Given the description of an element on the screen output the (x, y) to click on. 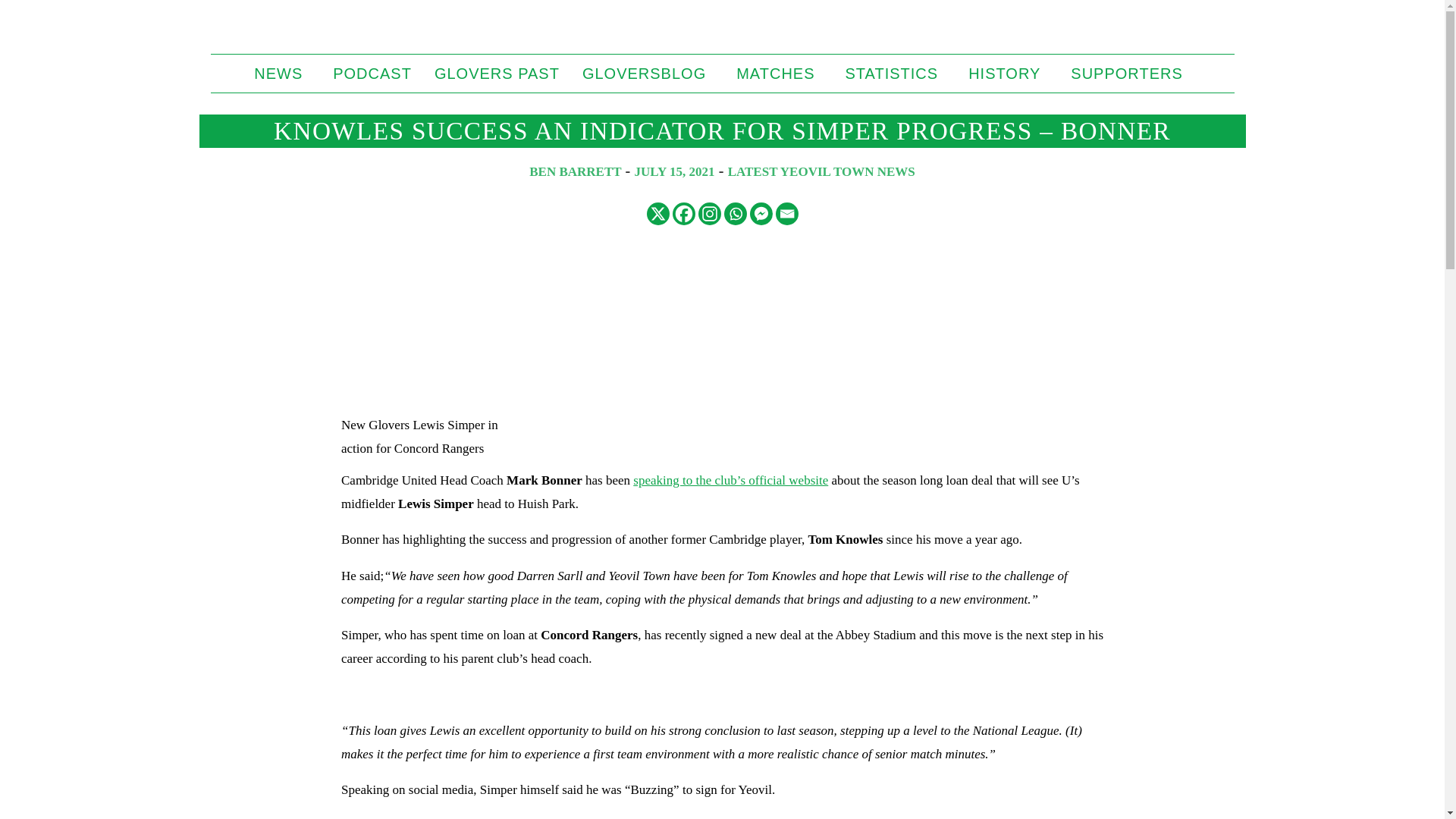
GLOVERS PAST (496, 73)
GLOVERSBLOG (647, 73)
SUPPORTERS (1130, 73)
LATEST YEOVIL TOWN NEWS (821, 171)
Facebook (682, 213)
Instagram (708, 213)
PODCAST (372, 73)
Thursday, July 15, 2021, 8:53 pm (674, 171)
Email (785, 213)
BEN BARRETT (575, 171)
